Given the description of an element on the screen output the (x, y) to click on. 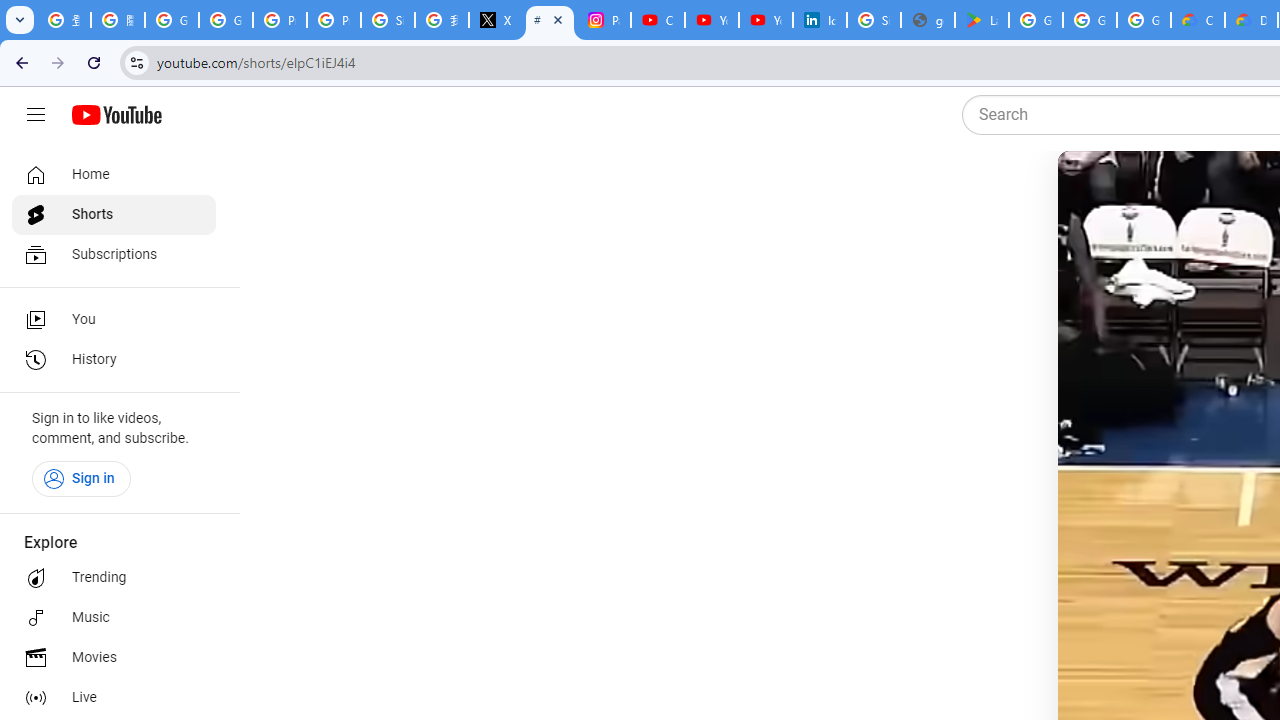
Home (113, 174)
Privacy Help Center - Policies Help (280, 20)
Movies (113, 657)
Last Shelter: Survival - Apps on Google Play (981, 20)
Google Workspace - Specific Terms (1089, 20)
Customer Care | Google Cloud (1197, 20)
Sign in - Google Accounts (874, 20)
Subscriptions (113, 254)
Trending (113, 578)
